Given the description of an element on the screen output the (x, y) to click on. 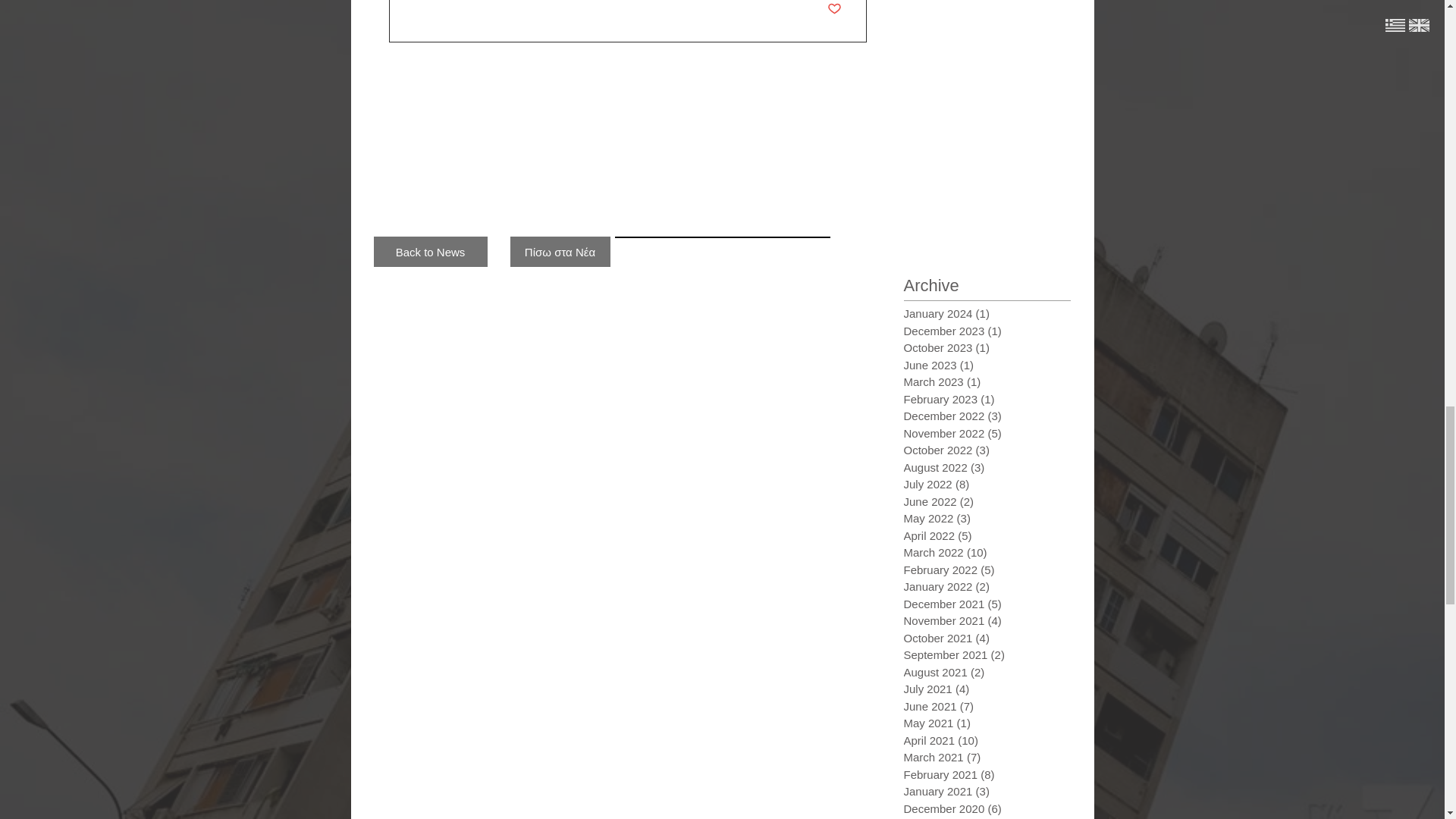
Post not marked as liked (834, 9)
